Given the description of an element on the screen output the (x, y) to click on. 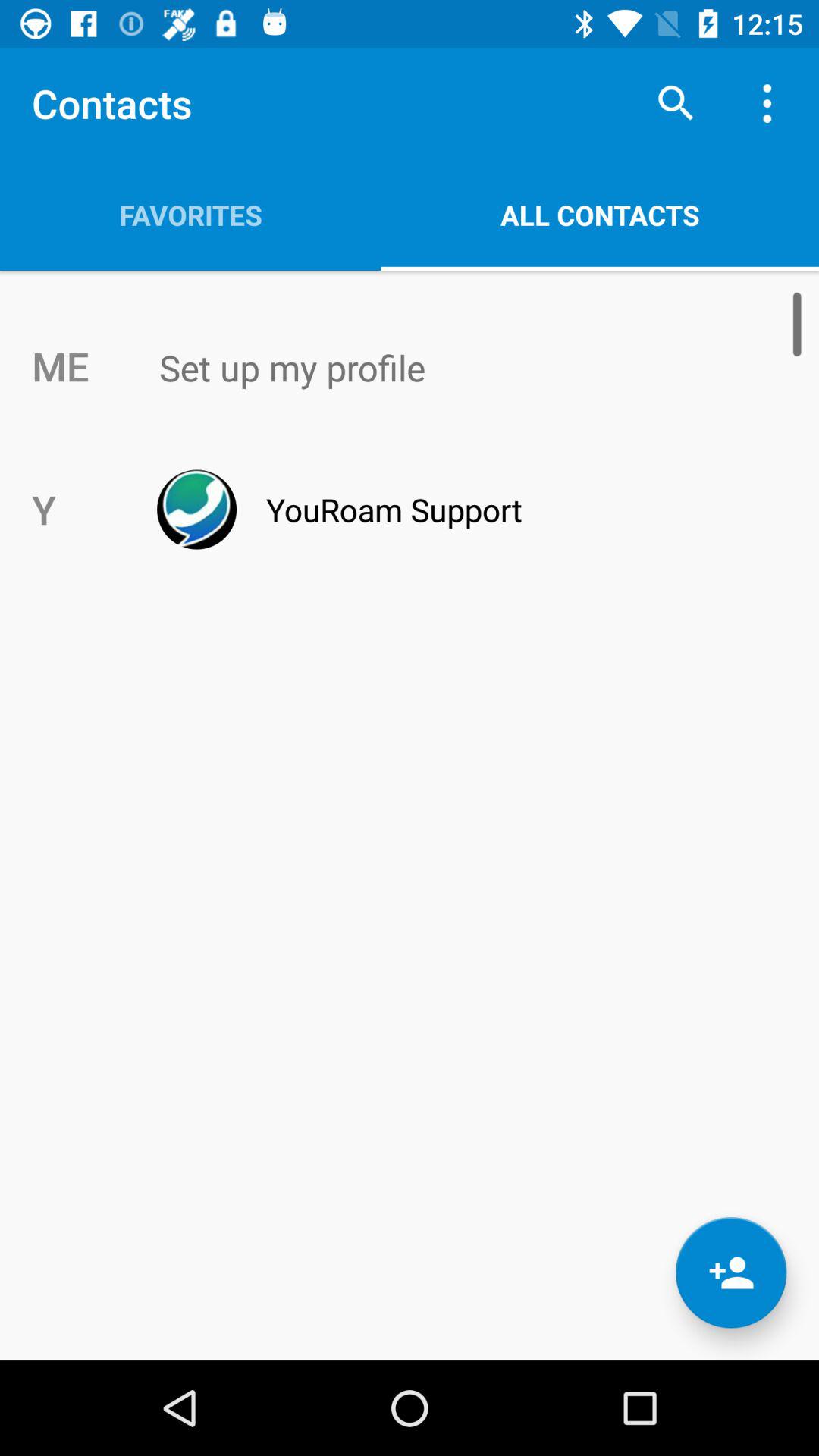
open item below the favorites (441, 367)
